Given the description of an element on the screen output the (x, y) to click on. 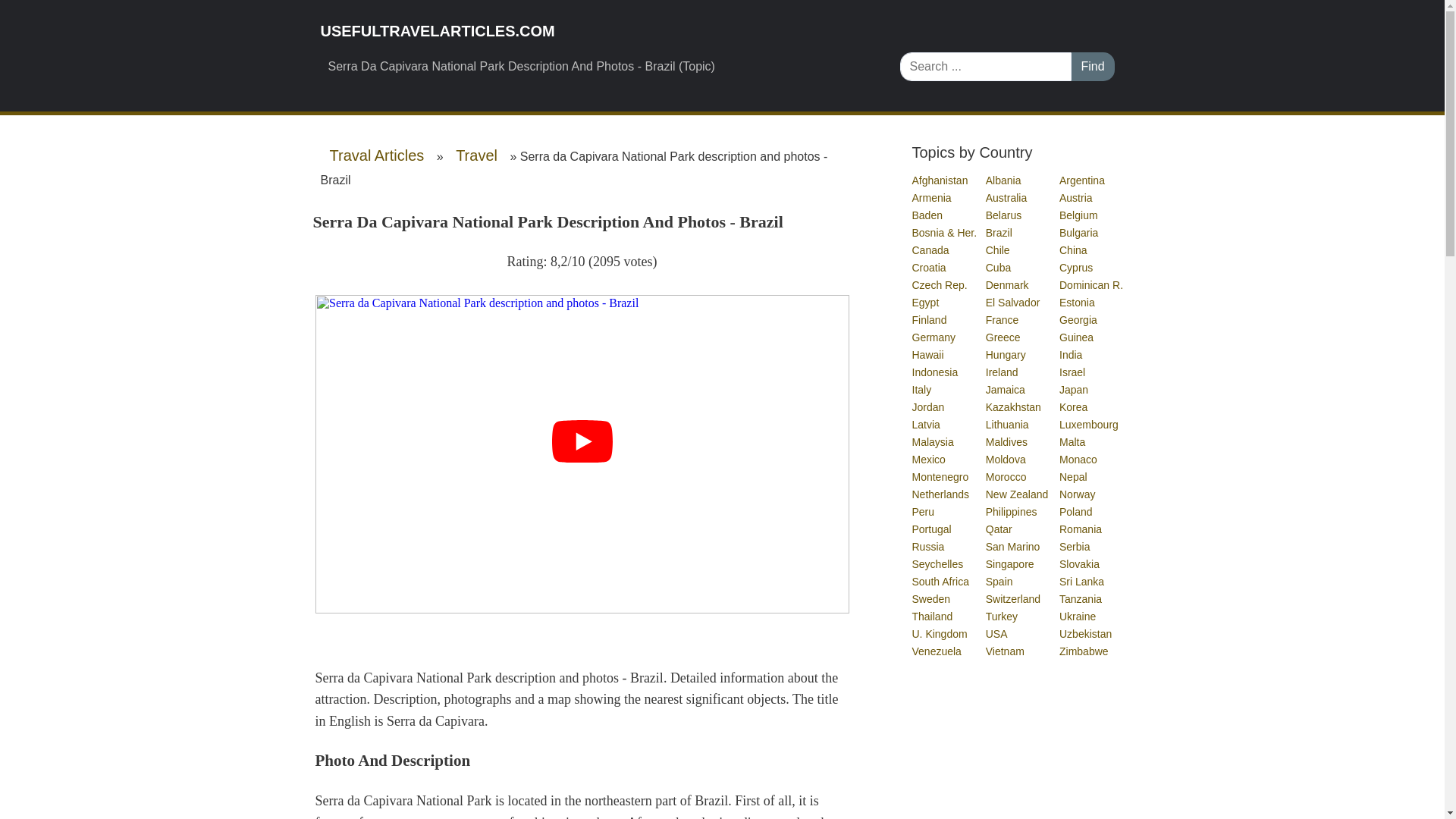
Baden (927, 215)
Czech Rep. (939, 285)
Brazil (999, 232)
El Salvador (1013, 302)
Greece (1003, 337)
Georgia (1079, 319)
Find (1091, 66)
Traval Articles (376, 155)
China (1074, 250)
Belarus (1004, 215)
Belgium (1079, 215)
Cuba (998, 267)
Germany (933, 337)
Dominican R. (1091, 285)
